Given the description of an element on the screen output the (x, y) to click on. 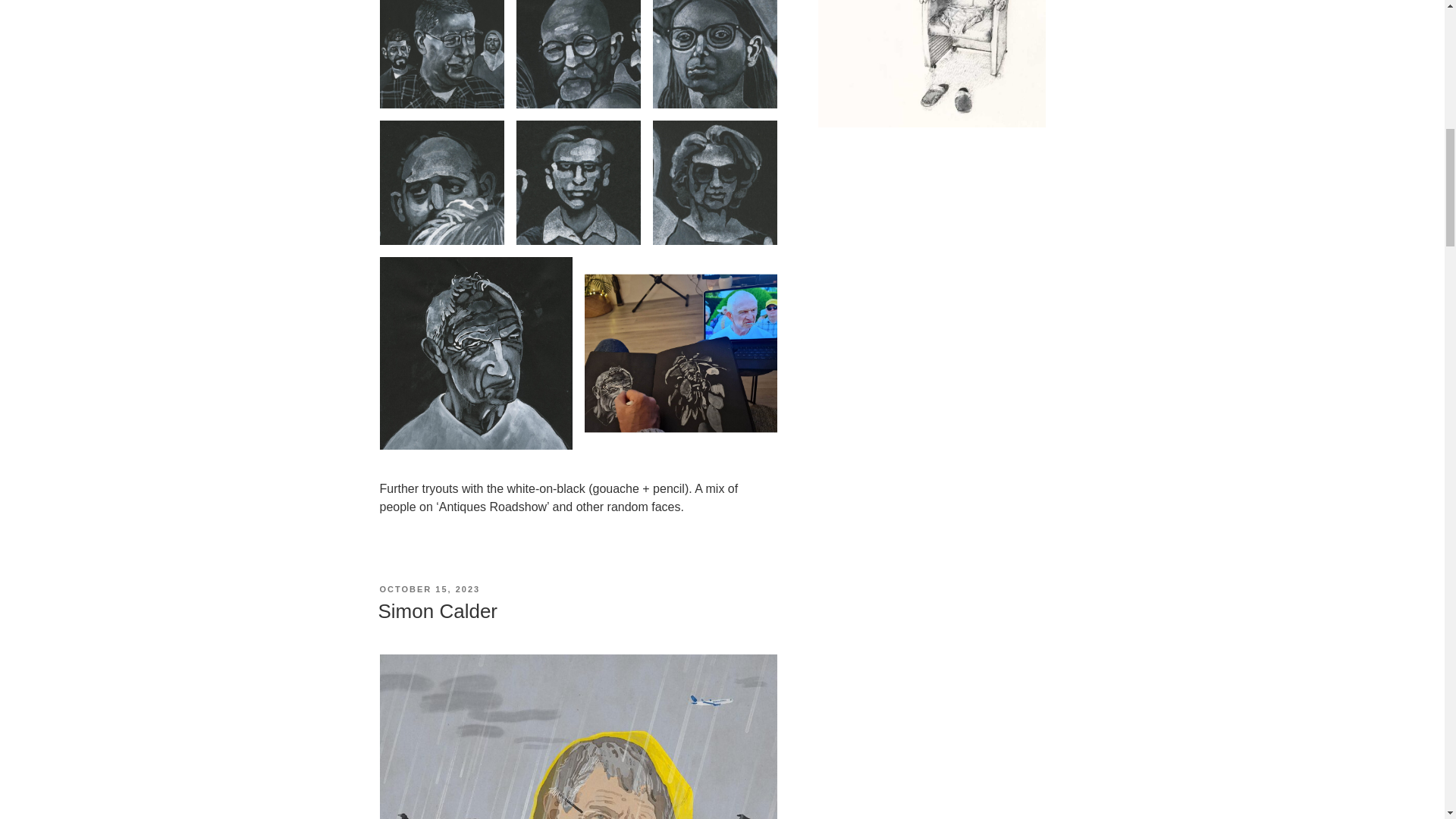
Simon Calder (437, 610)
OCTOBER 15, 2023 (429, 588)
